Given the description of an element on the screen output the (x, y) to click on. 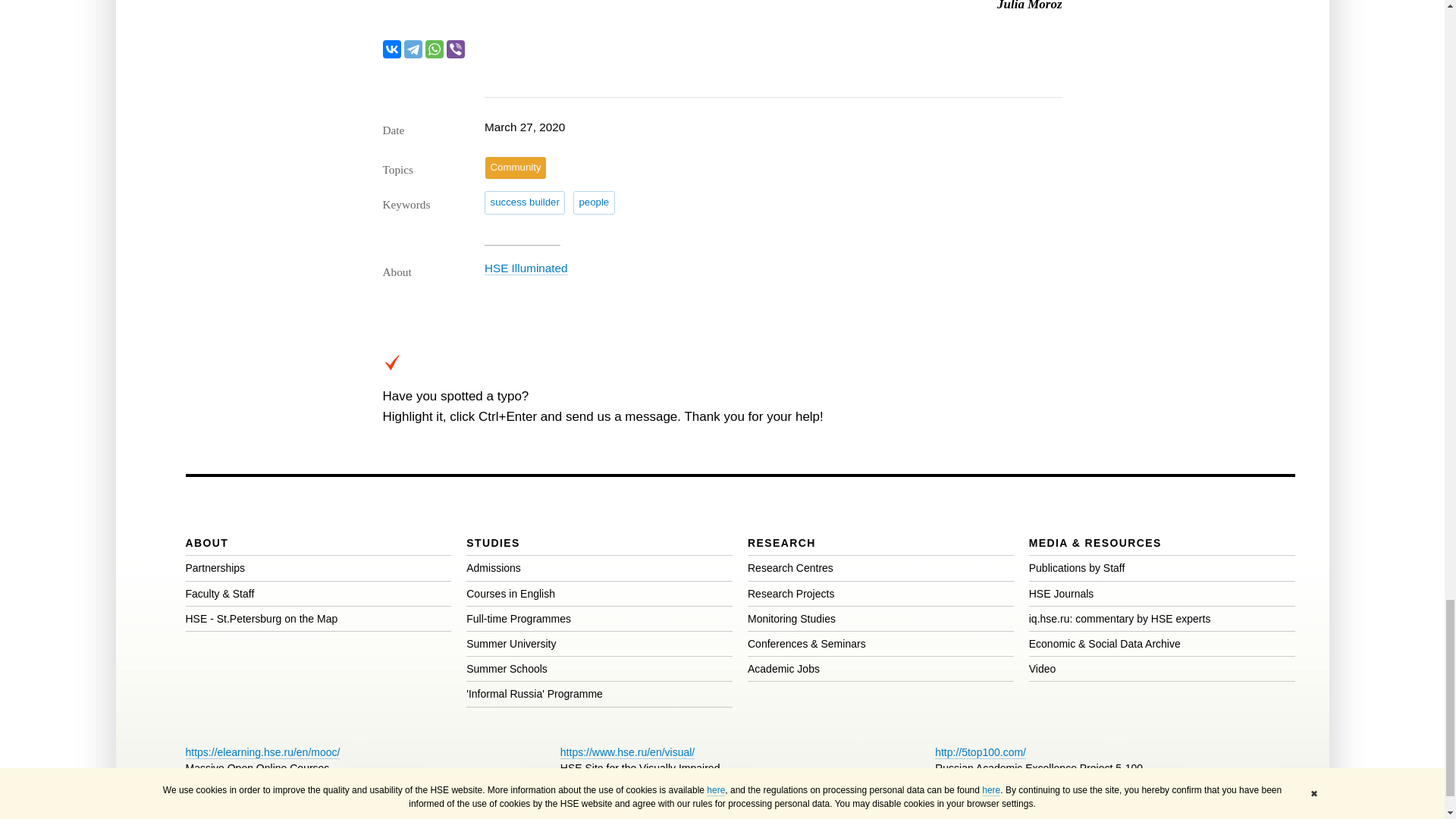
HSE Illuminated (525, 268)
VKontakte (390, 49)
Viber (454, 49)
Telegram (412, 49)
success builder (525, 201)
people (593, 201)
Community (515, 167)
ABOUT (206, 542)
people (593, 201)
success builder (525, 201)
WhatsApp (433, 49)
